Given the description of an element on the screen output the (x, y) to click on. 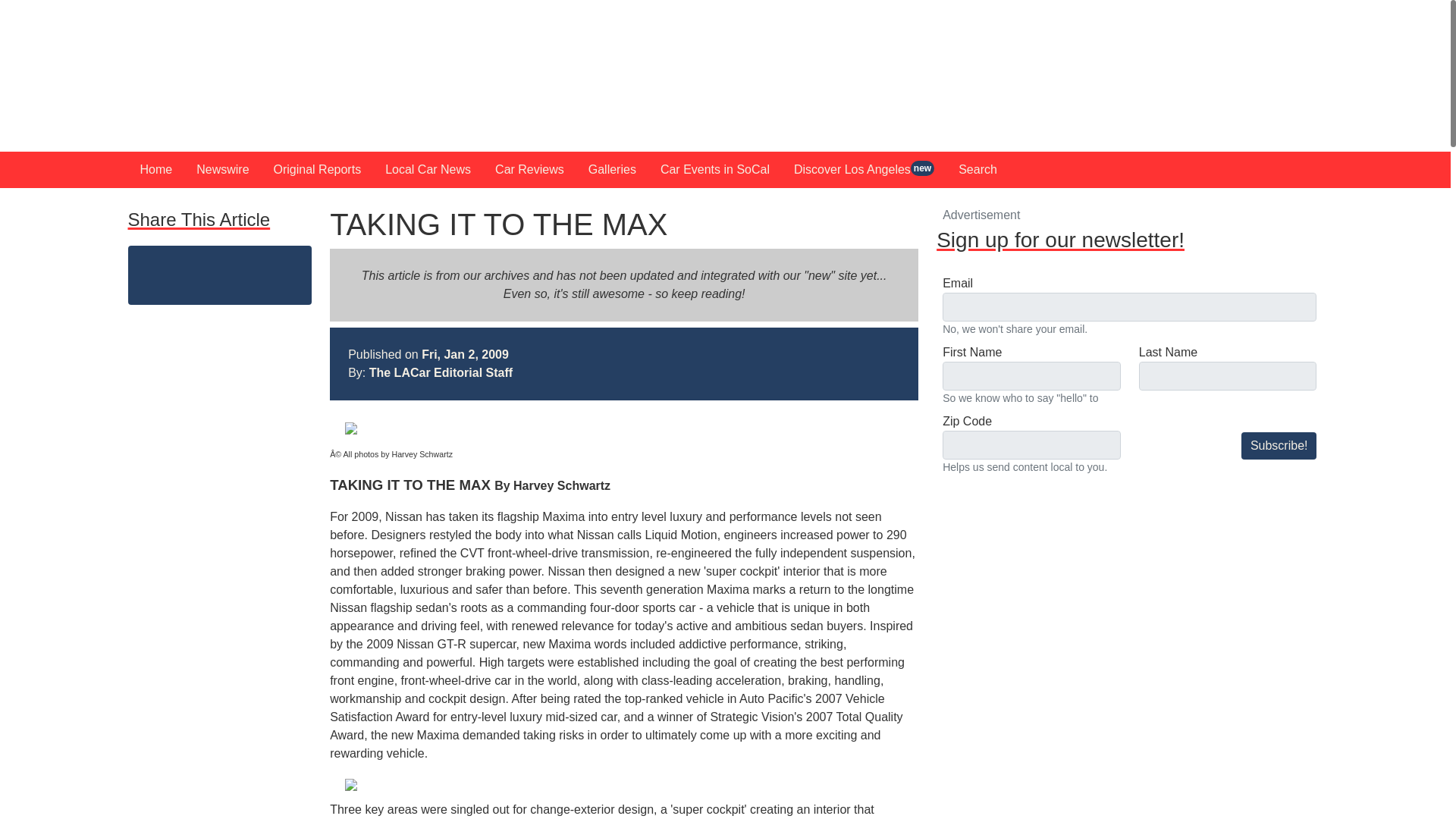
Original Reports (318, 169)
Discover Los Angelesnew (863, 169)
Galleries (611, 169)
Search (977, 169)
Newswire (222, 169)
Car Events in SoCal (714, 169)
Local Car News (427, 169)
Car Reviews (529, 169)
Home (156, 169)
Subscribe! (1279, 445)
